Given the description of an element on the screen output the (x, y) to click on. 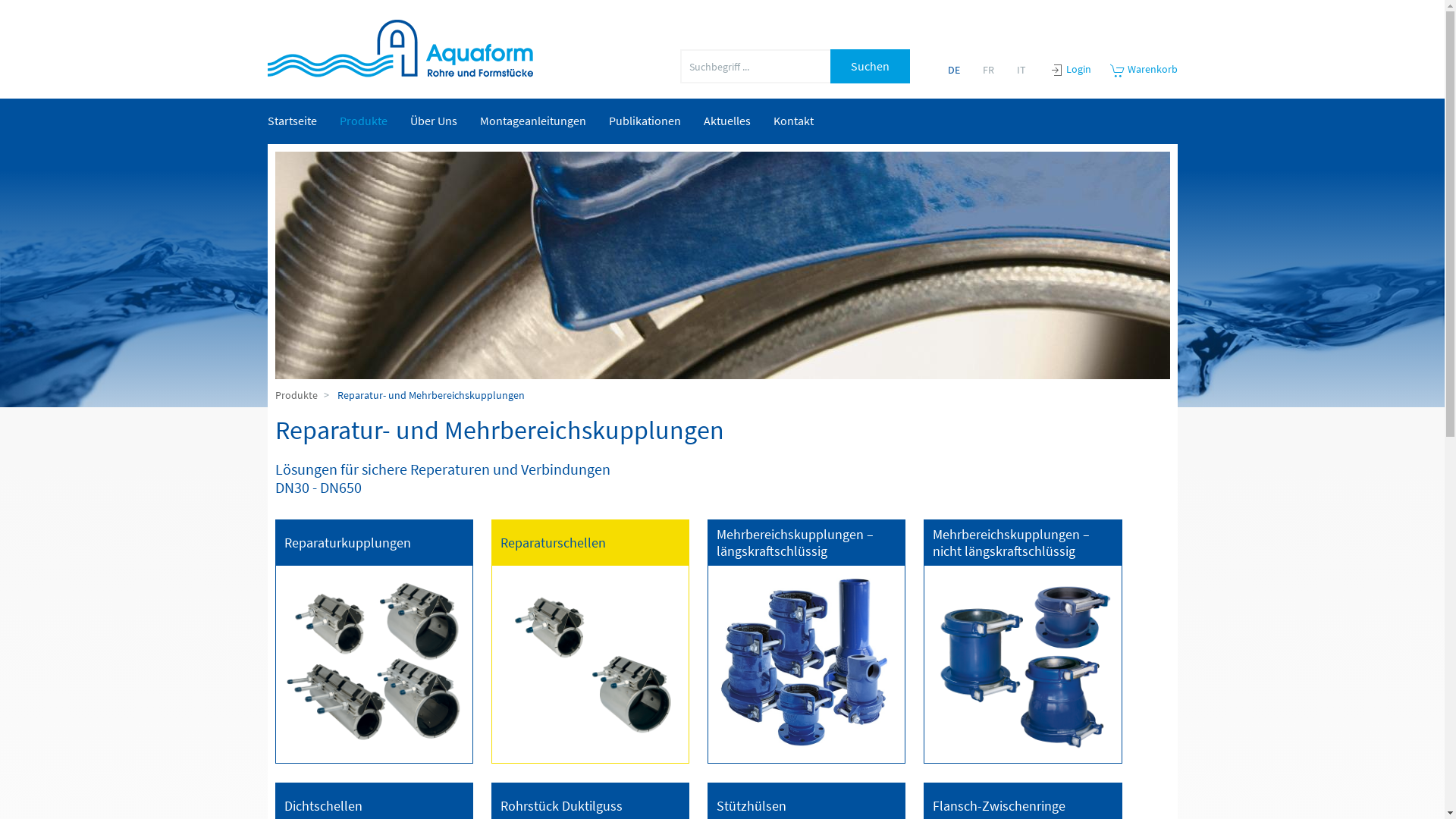
Kontakt Element type: text (792, 121)
Flansch-Zwischenringe Element type: text (998, 805)
Reparaturschellen Element type: text (552, 542)
Produkte Element type: text (295, 395)
Produkte Element type: text (362, 121)
Dichtschellen Element type: text (322, 805)
IT Element type: text (1020, 69)
DE Element type: text (953, 69)
Montageanleitungen Element type: text (532, 121)
FR Element type: text (988, 69)
Publikationen Element type: text (644, 121)
Suchen Element type: text (869, 66)
Startseite Element type: text (292, 121)
Login Element type: text (1078, 68)
Aktuelles Element type: text (726, 121)
Reparaturkupplungen Element type: text (346, 542)
Warenkorb Element type: text (1143, 68)
